Given the description of an element on the screen output the (x, y) to click on. 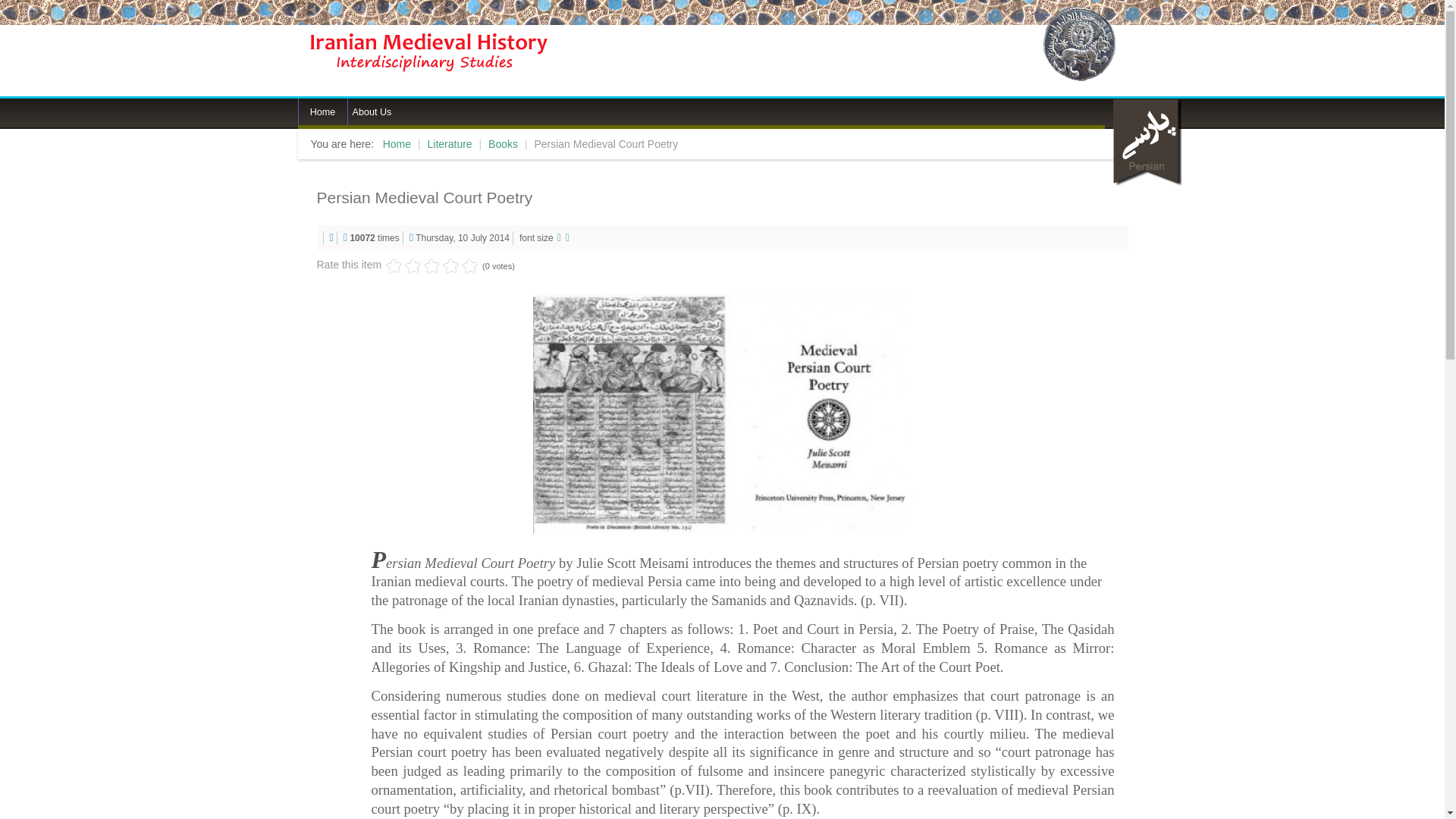
4 stars out of 5 (422, 265)
Click to preview image (721, 413)
5 (431, 265)
1 star out of 5 (393, 265)
3 (412, 265)
Books (502, 143)
2 (403, 265)
3 stars out of 5 (412, 265)
Home (321, 111)
5 stars out of 5 (431, 265)
Home (396, 143)
2 stars out of 5 (403, 265)
Home (321, 111)
About Us (372, 111)
Literature (449, 143)
